Given the description of an element on the screen output the (x, y) to click on. 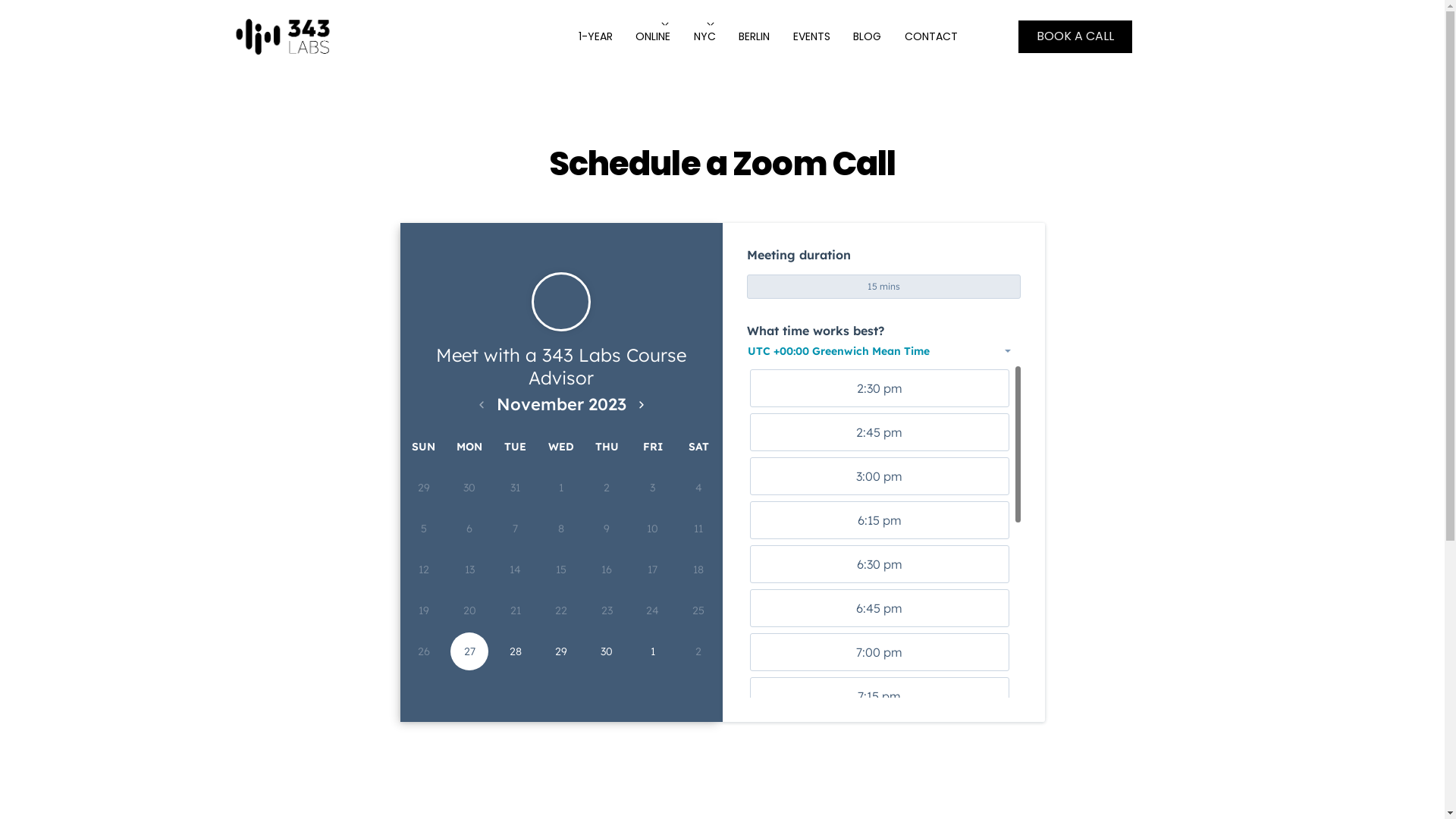
NYC Element type: text (704, 36)
CONTACT Element type: text (930, 36)
BOOK A CALL Element type: text (1075, 36)
Schedule a Call Element type: hover (282, 36)
BERLIN Element type: text (753, 36)
BLOG Element type: text (867, 36)
1-YEAR Element type: text (595, 36)
ONLINE Element type: text (652, 36)
EVENTS Element type: text (811, 36)
